Given the description of an element on the screen output the (x, y) to click on. 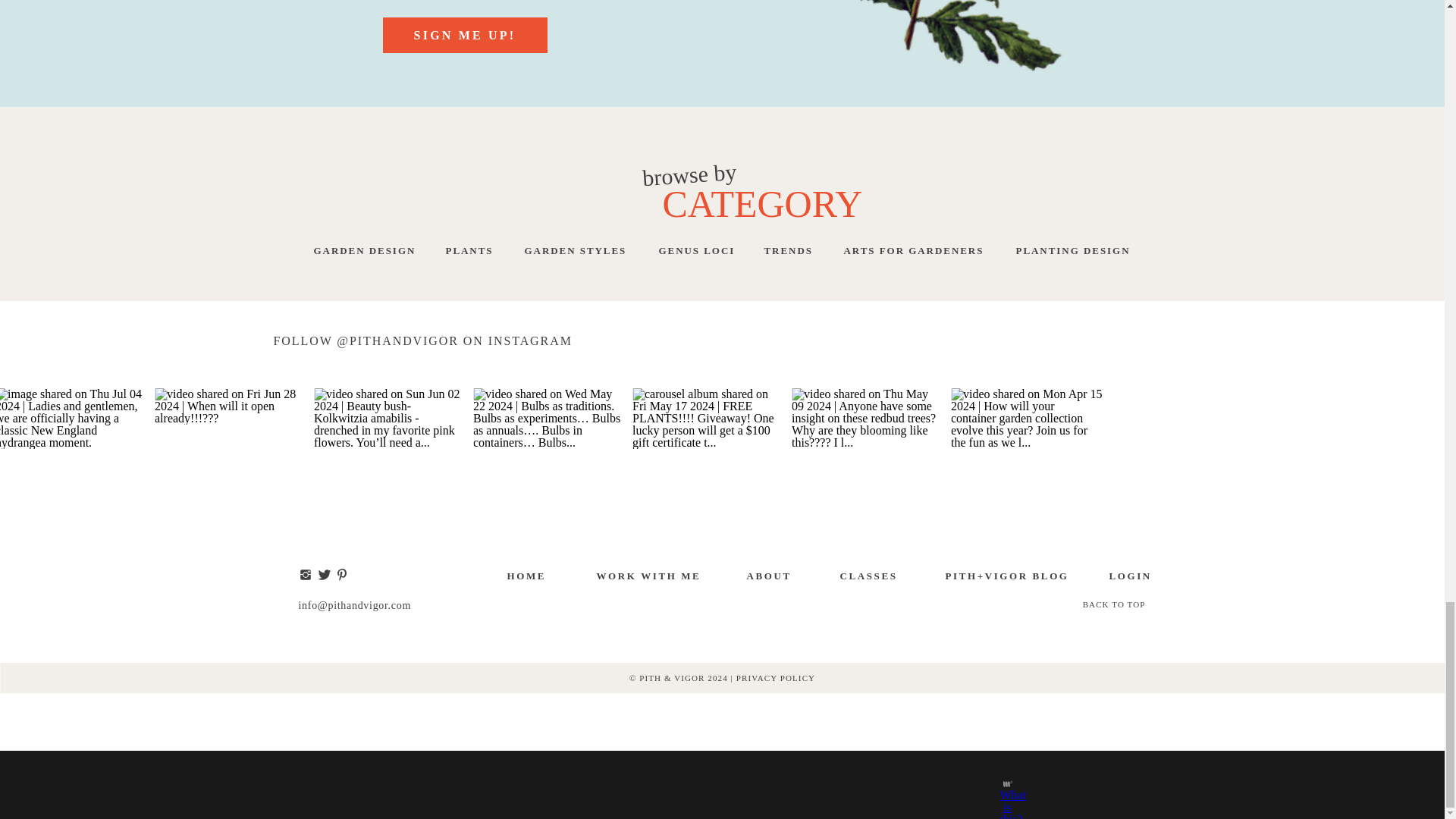
TRENDS (801, 251)
SIGN ME UP! (464, 39)
ARTS FOR GARDENERS (923, 251)
